Given the description of an element on the screen output the (x, y) to click on. 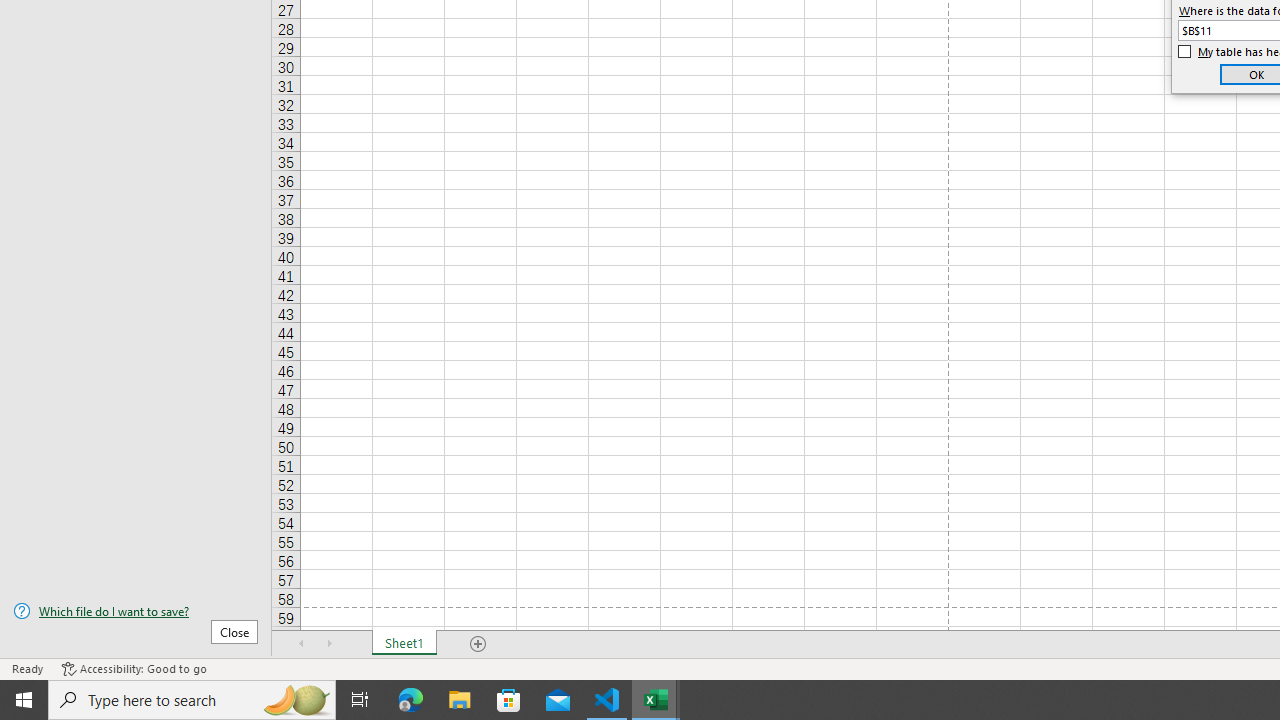
Accessibility Checker Accessibility: Good to go (134, 668)
Which file do I want to save? (136, 611)
